Given the description of an element on the screen output the (x, y) to click on. 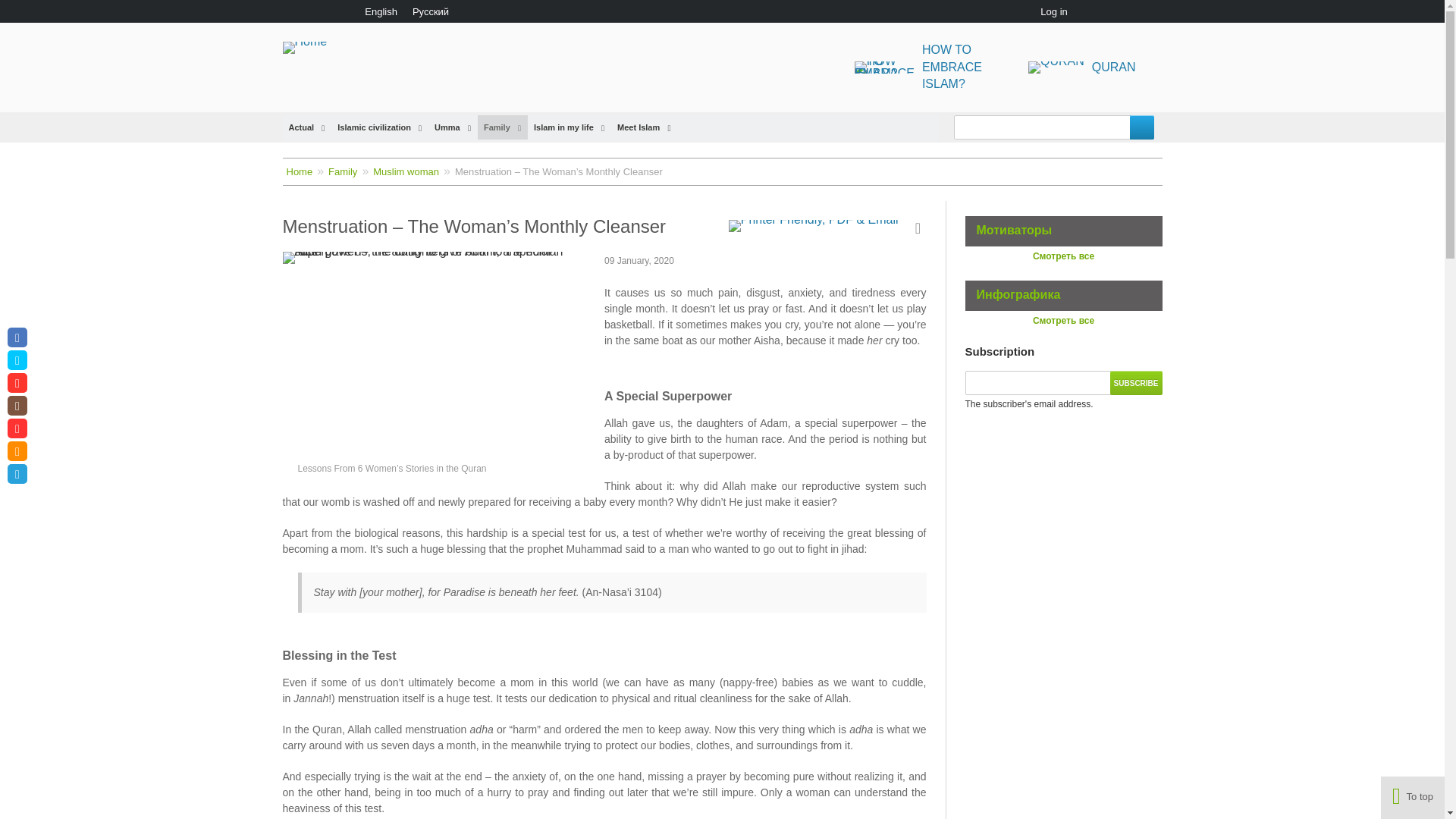
Actual (306, 127)
Home (932, 67)
QURAN (310, 46)
Subscribe (1085, 67)
English (1135, 382)
Log in (381, 11)
